Given the description of an element on the screen output the (x, y) to click on. 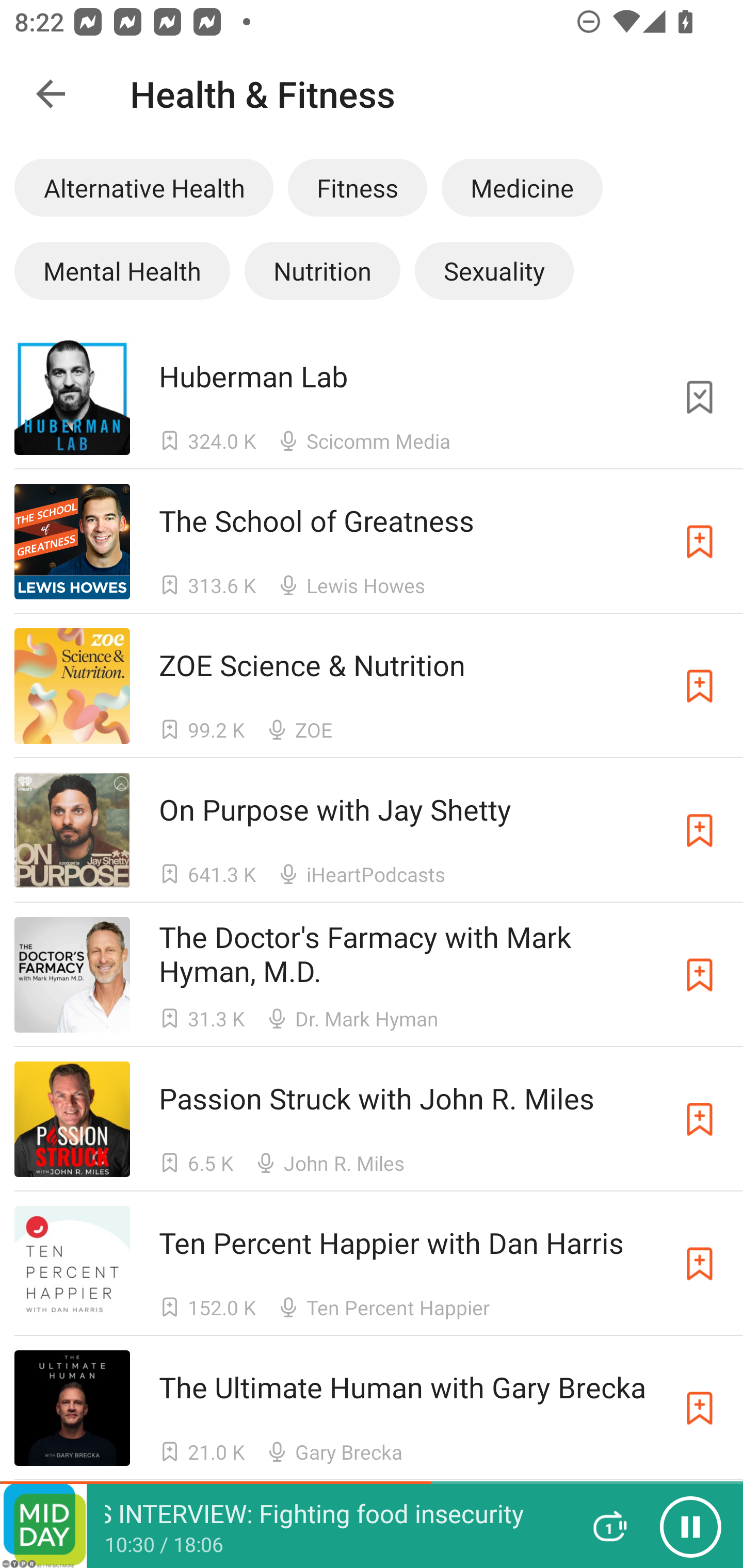
Navigate up (50, 93)
Alternative Health (143, 187)
Fitness (357, 187)
Medicine (521, 187)
Mental Health (122, 270)
Nutrition (322, 270)
Sexuality (493, 270)
Unsubscribe (699, 396)
Subscribe (699, 541)
Subscribe (699, 685)
Subscribe (699, 830)
Subscribe (699, 975)
Subscribe (699, 1119)
Subscribe (699, 1263)
Subscribe (699, 1408)
Pause (690, 1526)
